Given the description of an element on the screen output the (x, y) to click on. 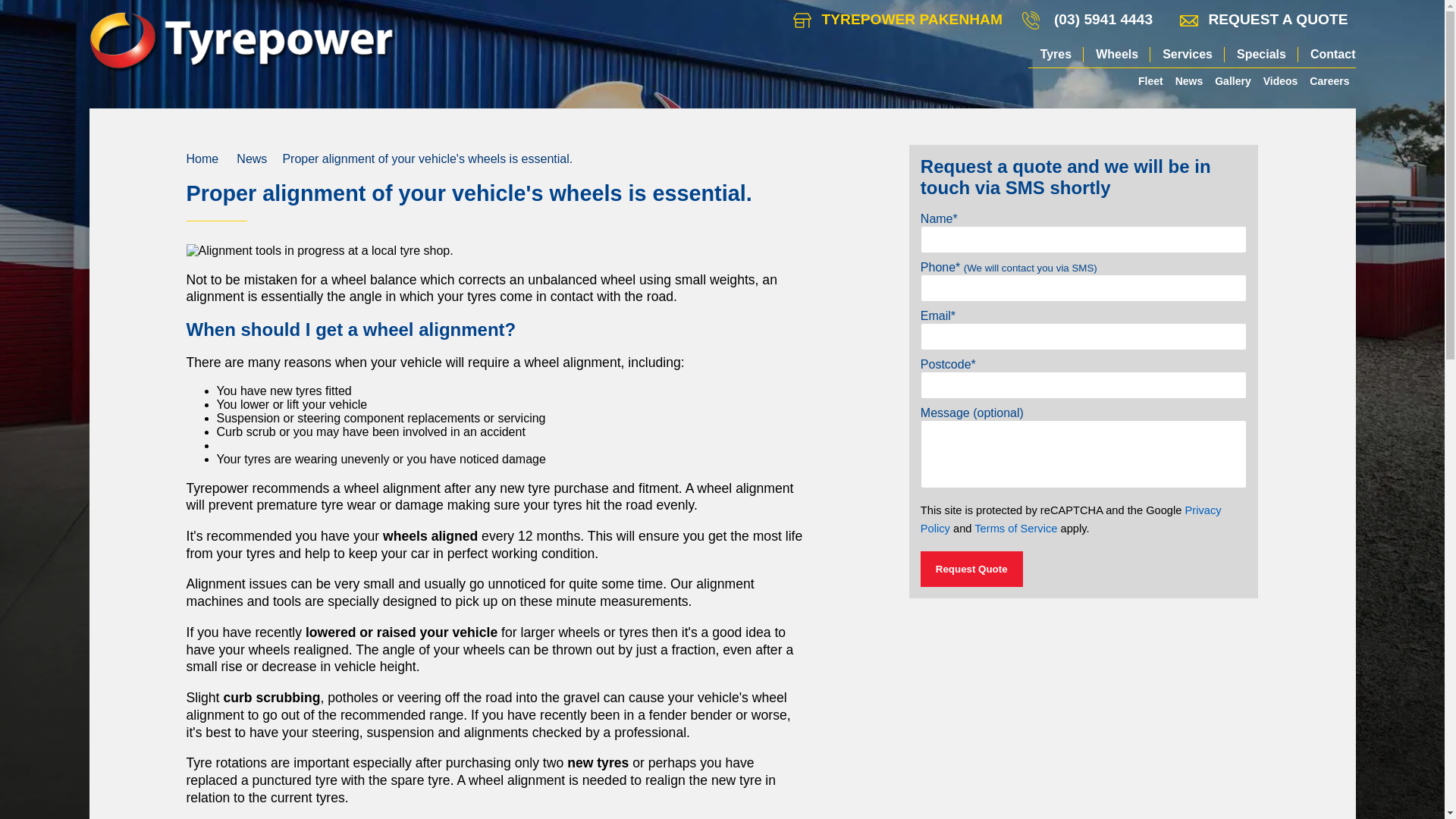
Services (1187, 54)
Tyres (1055, 54)
Contact Tyrepower Pakenham (898, 20)
Wheels (1116, 54)
REQUEST A QUOTE (1263, 20)
Click to call now! (1103, 20)
TYREPOWER PAKENHAM (898, 20)
